Given the description of an element on the screen output the (x, y) to click on. 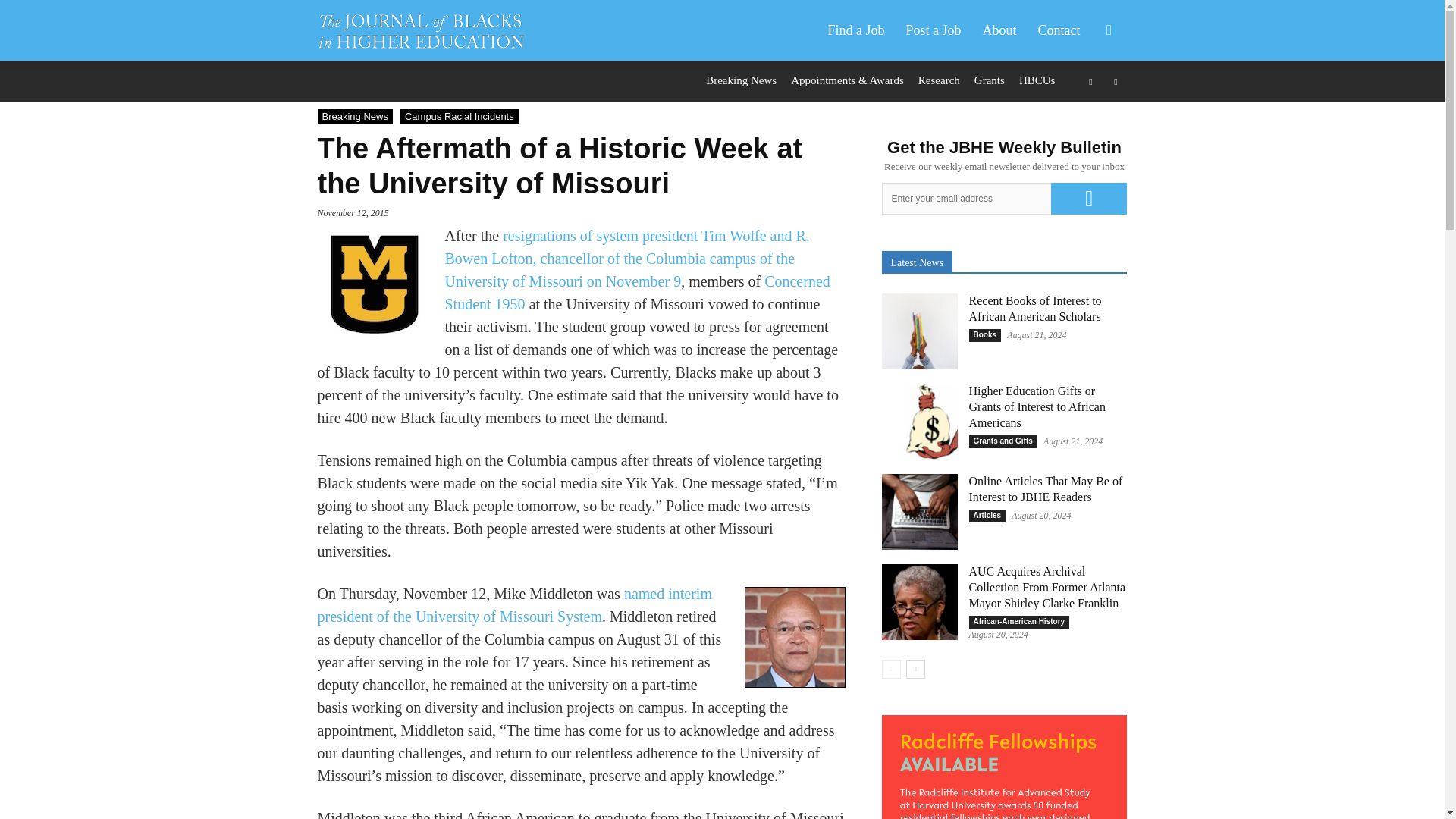
Search (1085, 102)
Find a Job (855, 30)
The Journal of Blacks in Higher Education (428, 30)
contact (1058, 30)
Breaking News (354, 116)
Concerned Student 1950 (636, 292)
named interim president of the University of Missouri System (514, 604)
Breaking News (741, 80)
Contact (1058, 30)
about (999, 30)
